Given the description of an element on the screen output the (x, y) to click on. 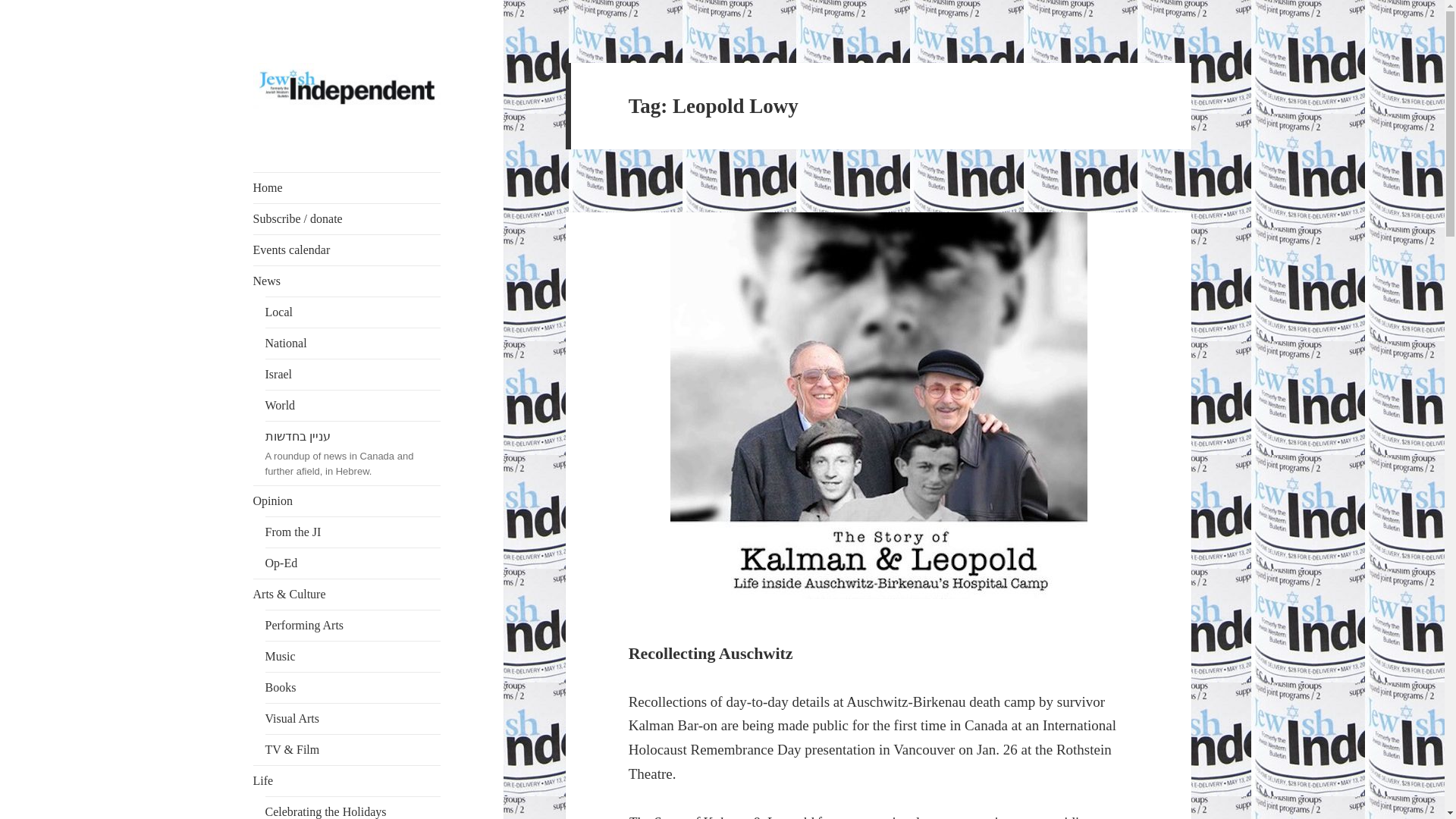
Books (352, 687)
Local (352, 312)
Israel (352, 374)
National (352, 343)
Celebrating the Holidays (352, 807)
Life (347, 780)
From the JI (352, 531)
Visual Arts (352, 718)
Home (347, 187)
Opinion (347, 501)
